Given the description of an element on the screen output the (x, y) to click on. 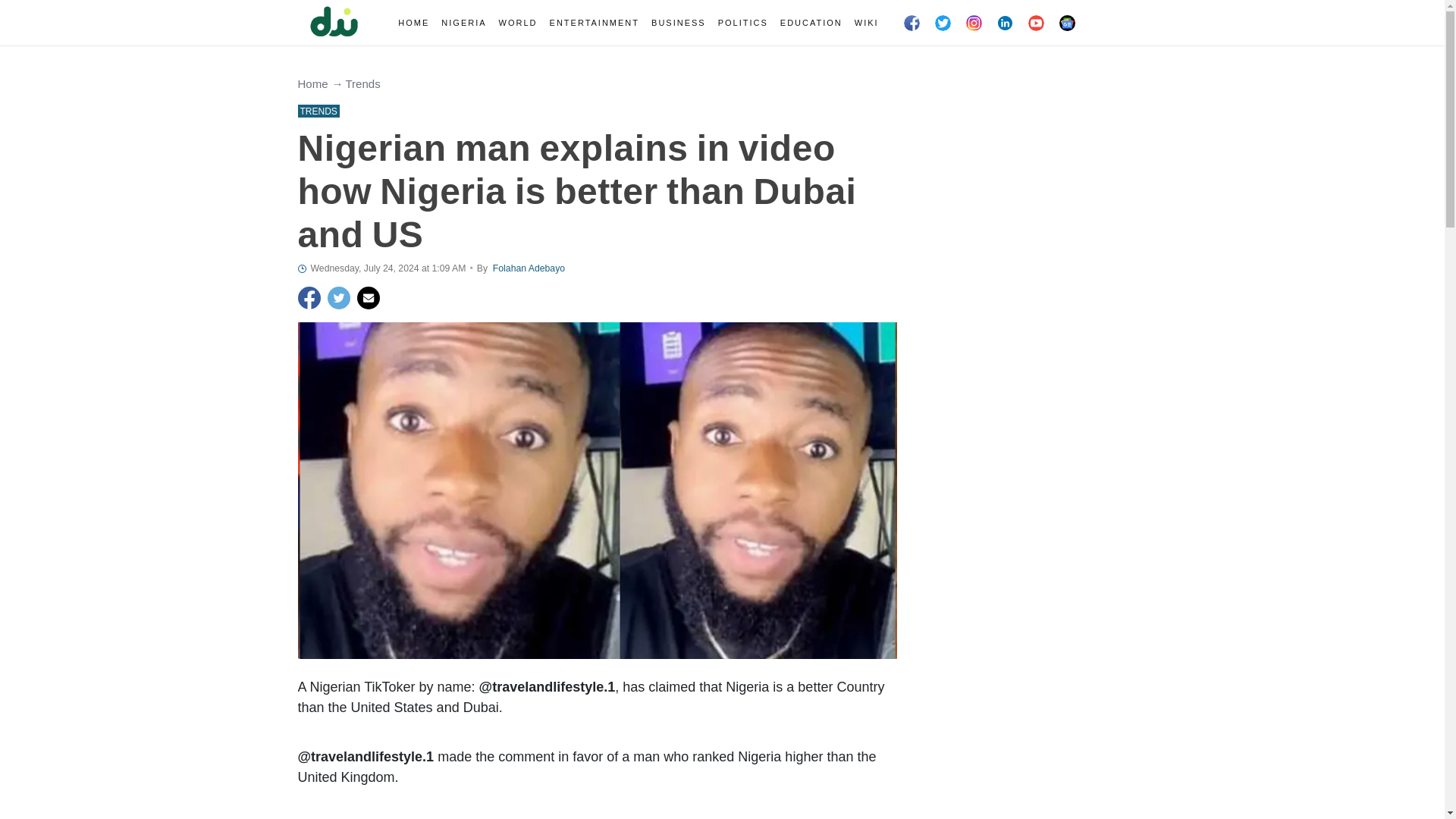
ENTERTAINMENT (594, 22)
BUSINESS (678, 22)
POLITICS (742, 22)
Home (312, 83)
HOME (413, 22)
WORLD (518, 22)
EDUCATION (811, 22)
NIGERIA (463, 22)
